Given the description of an element on the screen output the (x, y) to click on. 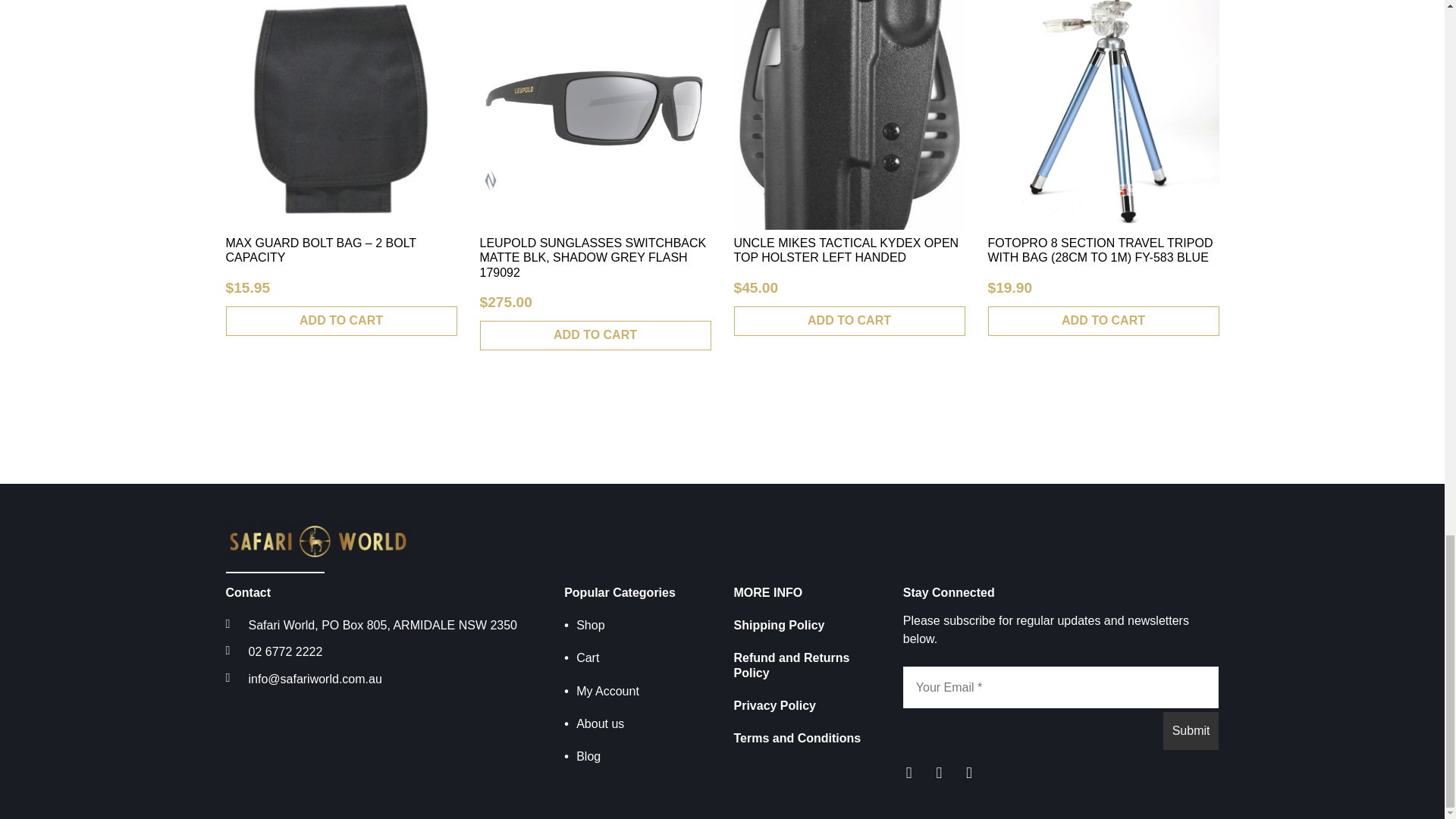
Safari World (317, 540)
Submit (1191, 730)
